Given the description of an element on the screen output the (x, y) to click on. 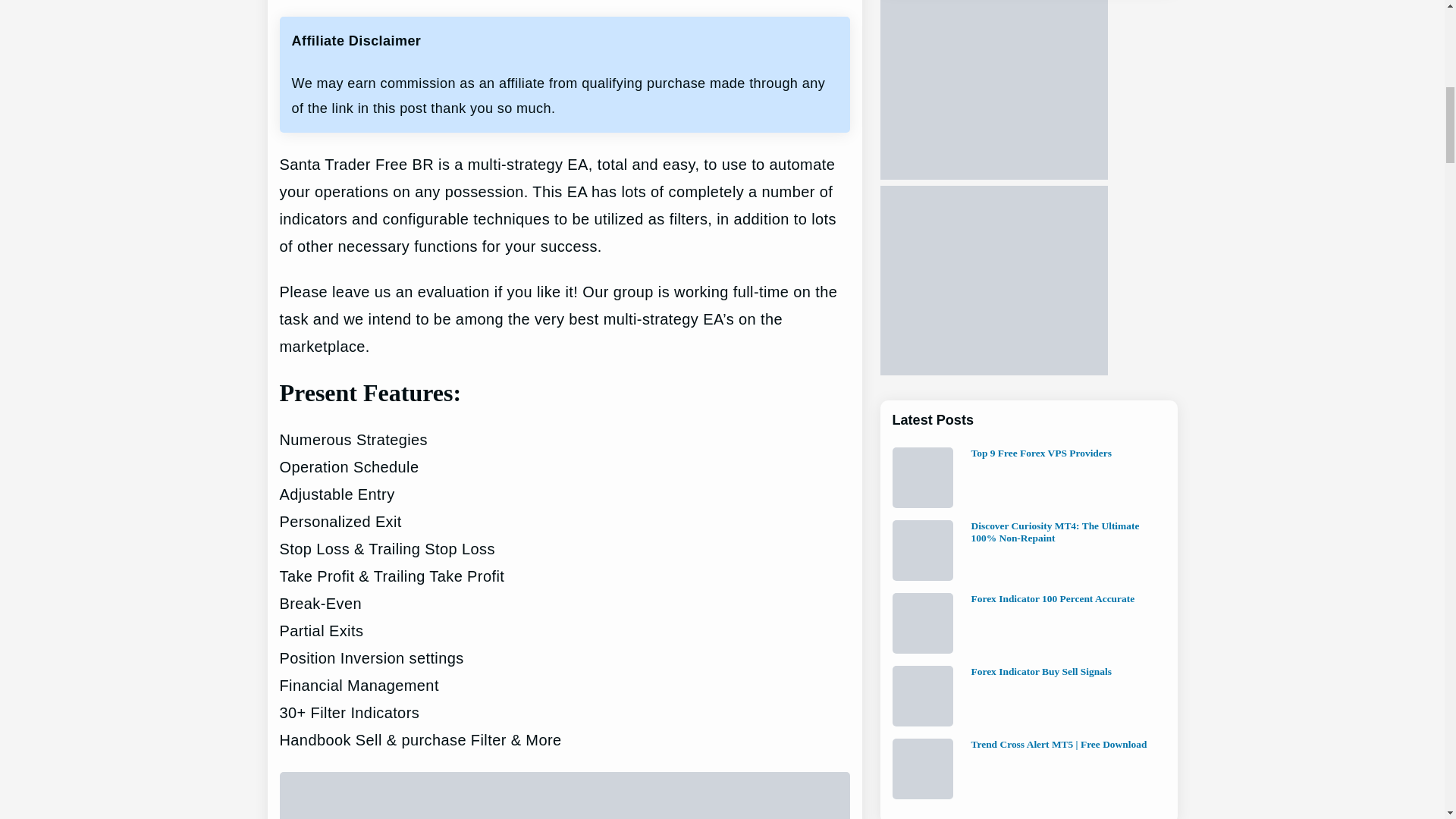
Top 9 Free Forex VPS Providers (1041, 453)
